Given the description of an element on the screen output the (x, y) to click on. 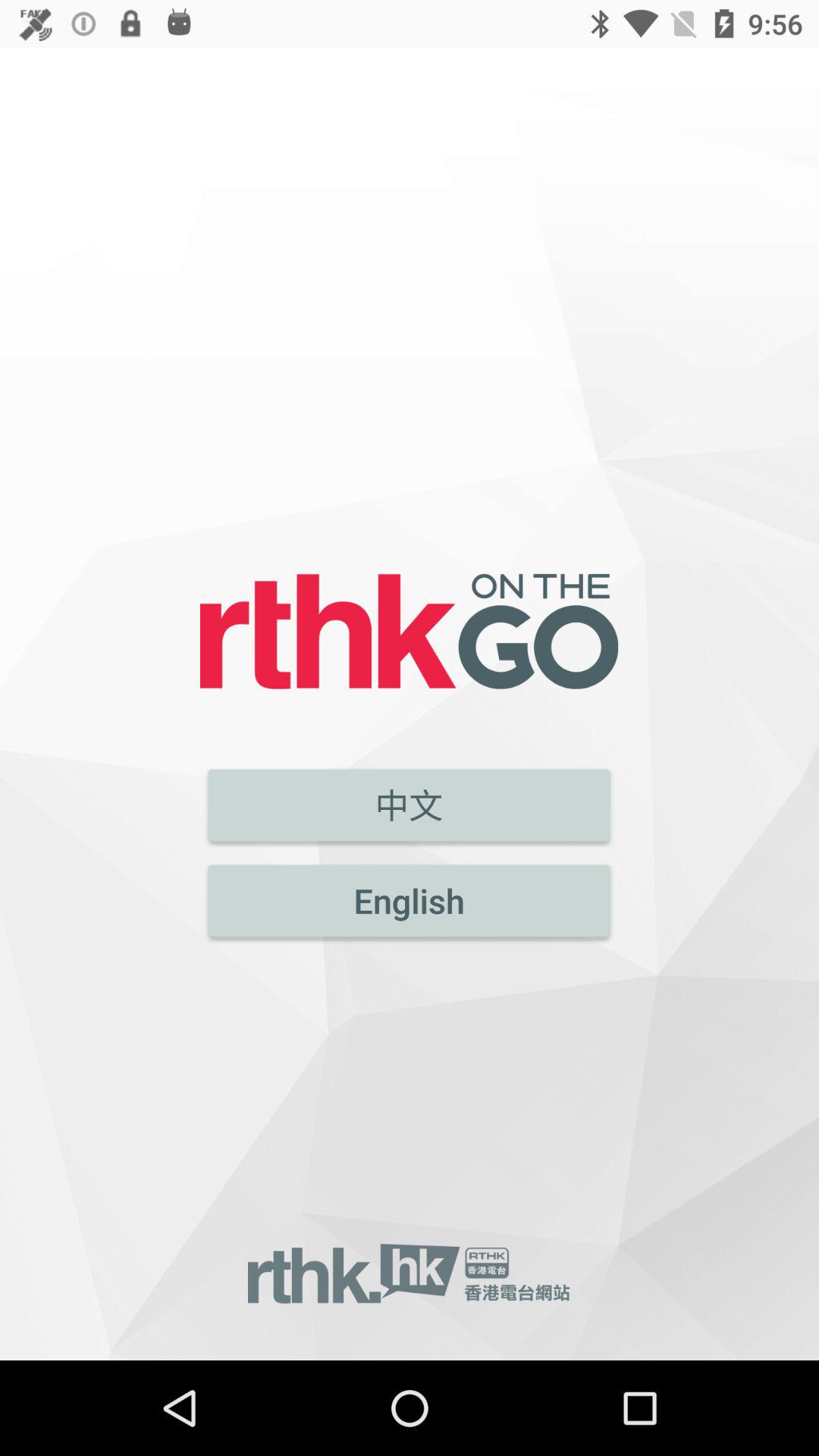
choose the icon above english item (409, 805)
